Given the description of an element on the screen output the (x, y) to click on. 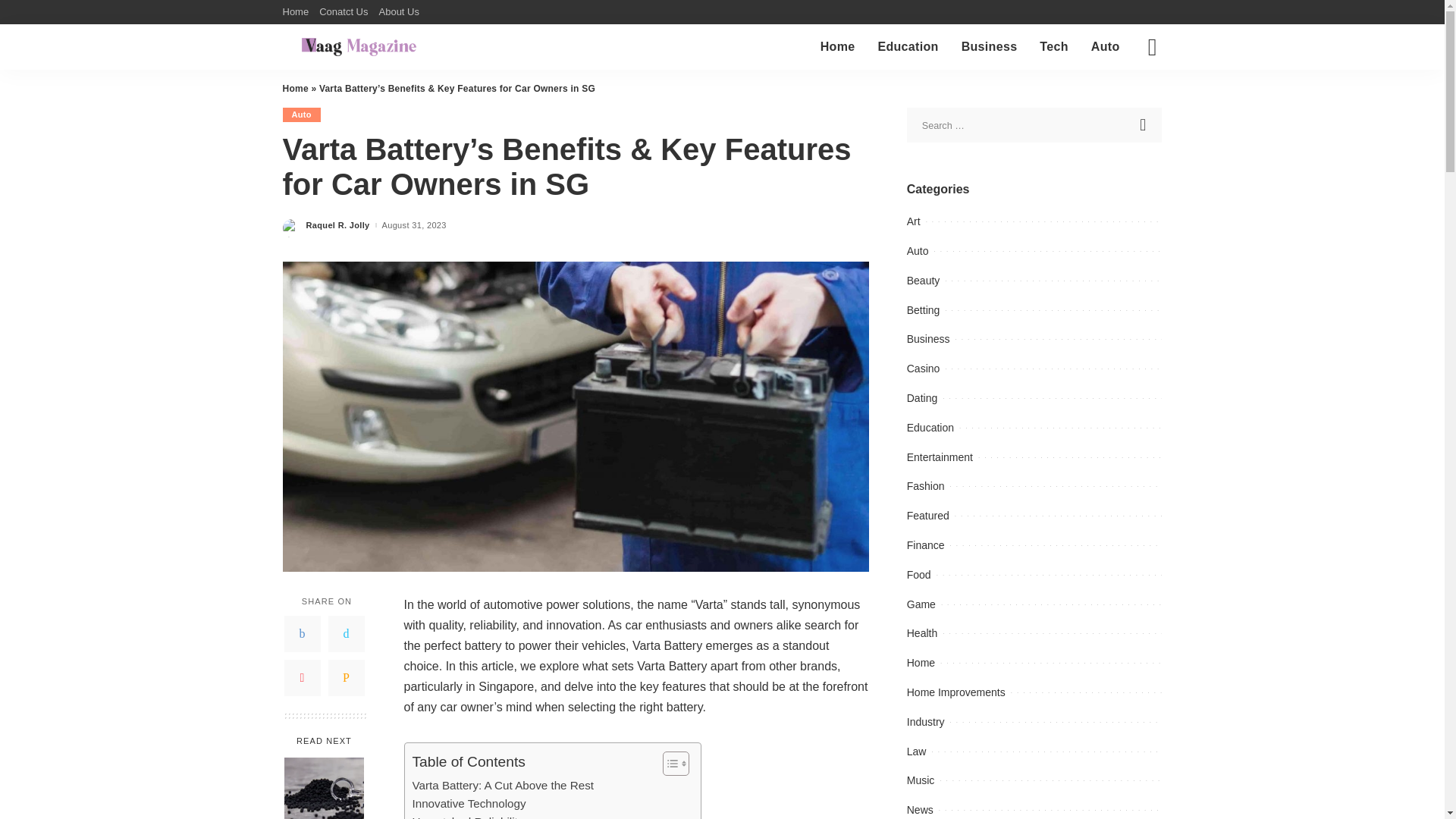
Innovative Technology (468, 803)
Education (907, 46)
Auto (1105, 46)
Conatct Us (343, 11)
Varta Battery: A Cut Above the Rest (503, 785)
Business (989, 46)
Search (1143, 124)
Vaag Magazine (358, 46)
Search (1143, 124)
Email (345, 678)
Innovative Technology (468, 803)
Tech (1052, 46)
About Us (397, 11)
Raquel R. Jolly (337, 225)
